Given the description of an element on the screen output the (x, y) to click on. 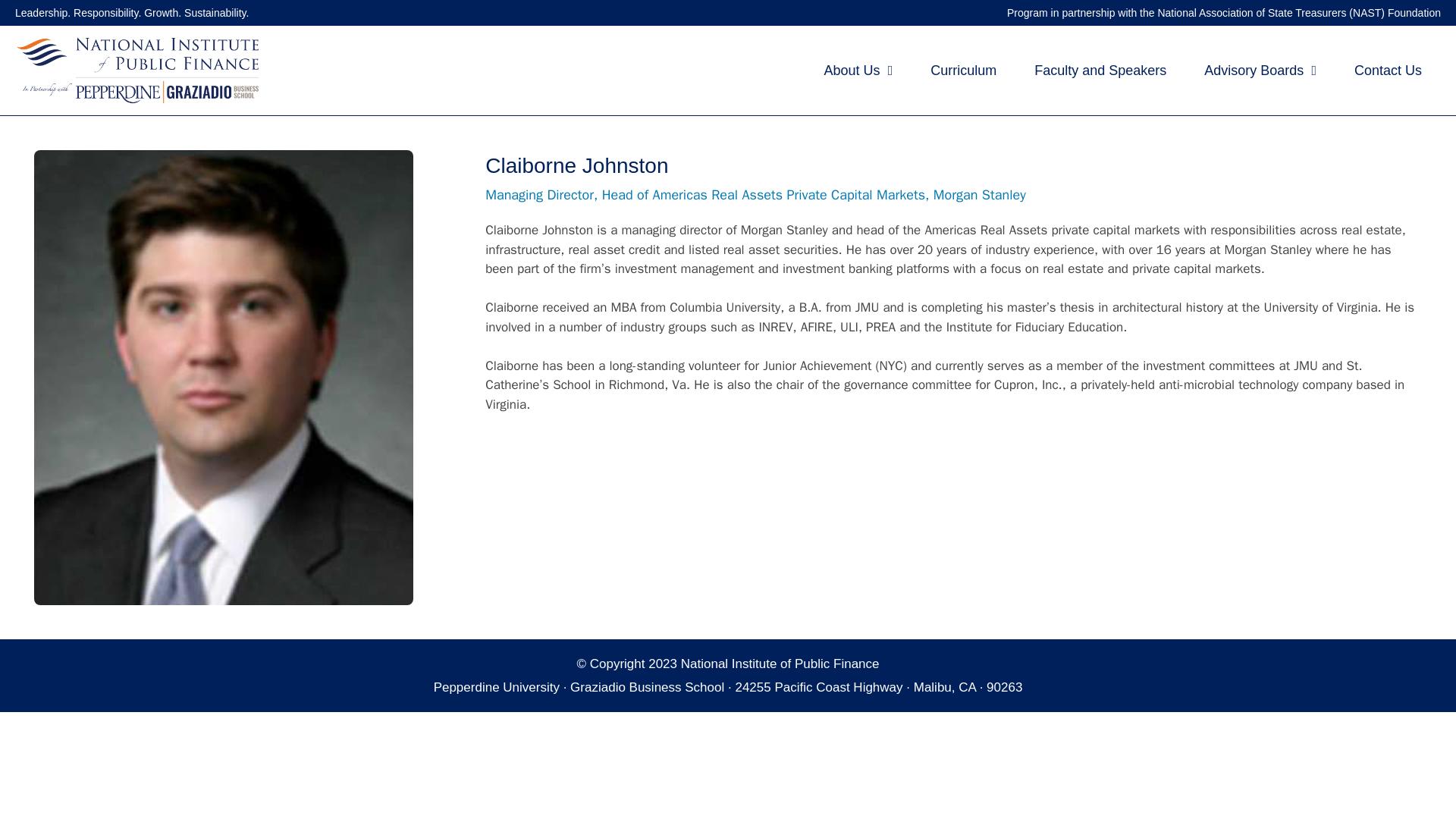
Advisory Boards (1260, 70)
Faculty and Speakers (1099, 70)
About Us (858, 70)
Curriculum (962, 70)
Contact Us (1388, 70)
